Given the description of an element on the screen output the (x, y) to click on. 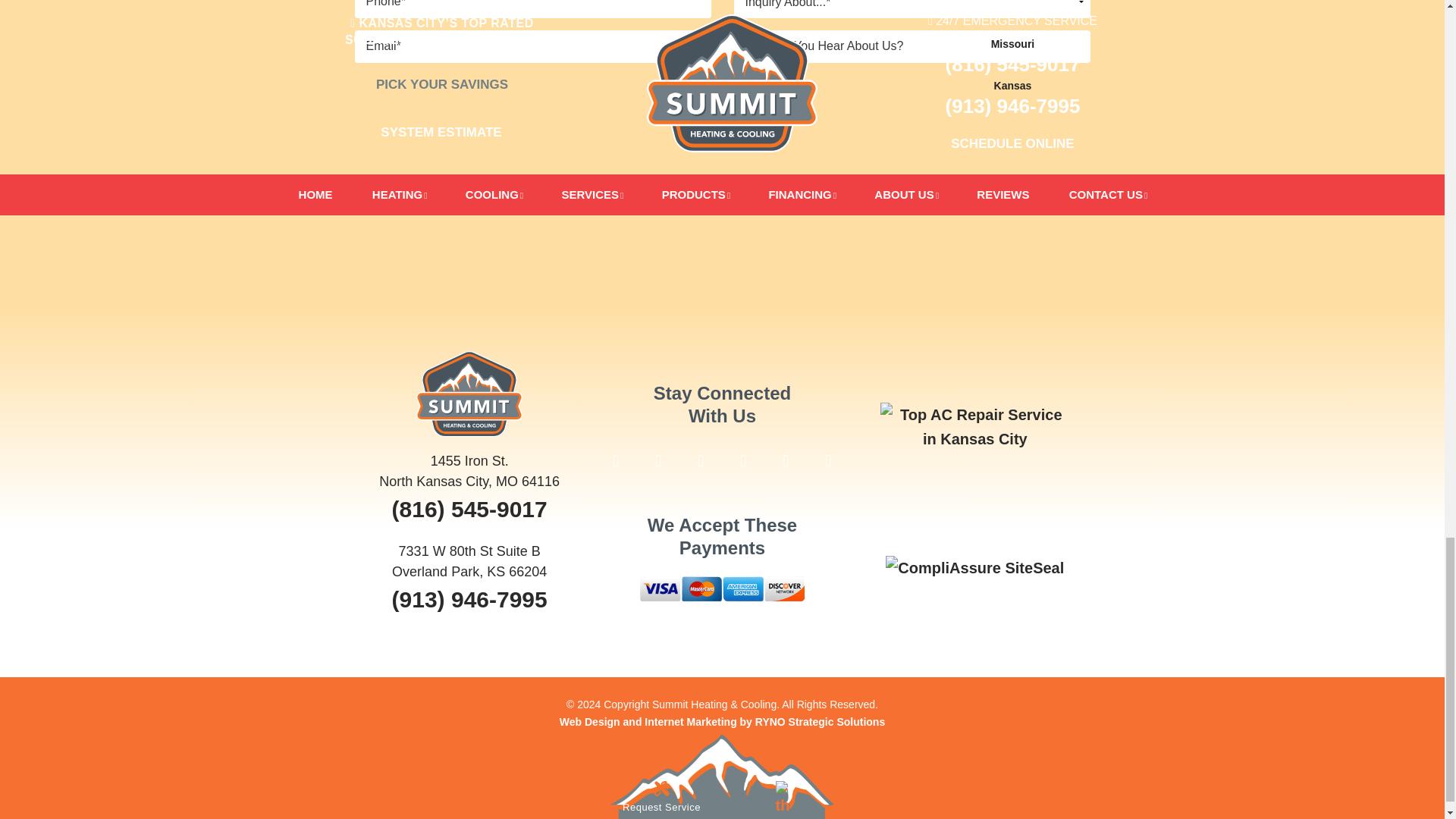
Submit (722, 124)
